Given the description of an element on the screen output the (x, y) to click on. 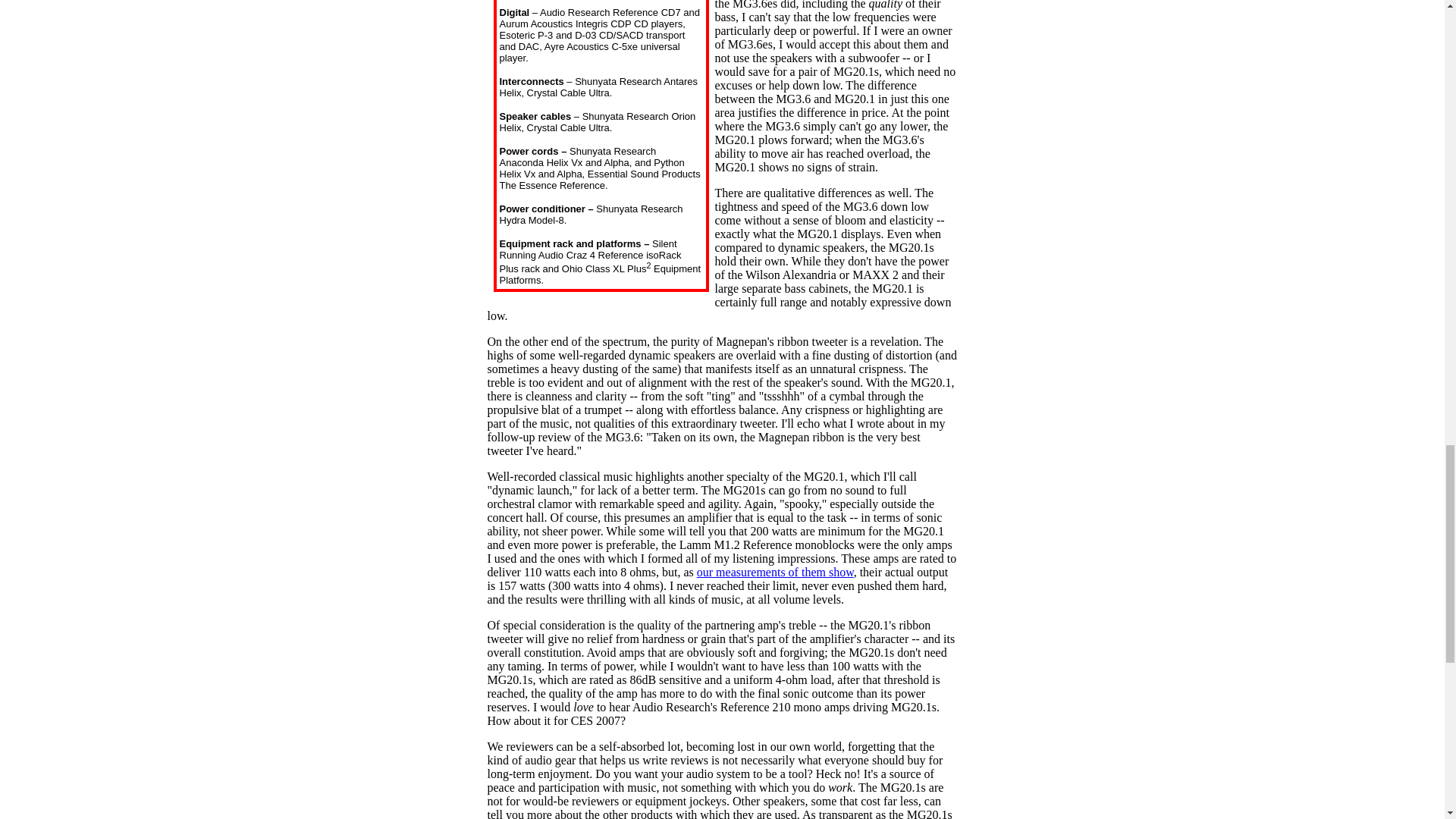
our measurements of them show (775, 571)
